Given the description of an element on the screen output the (x, y) to click on. 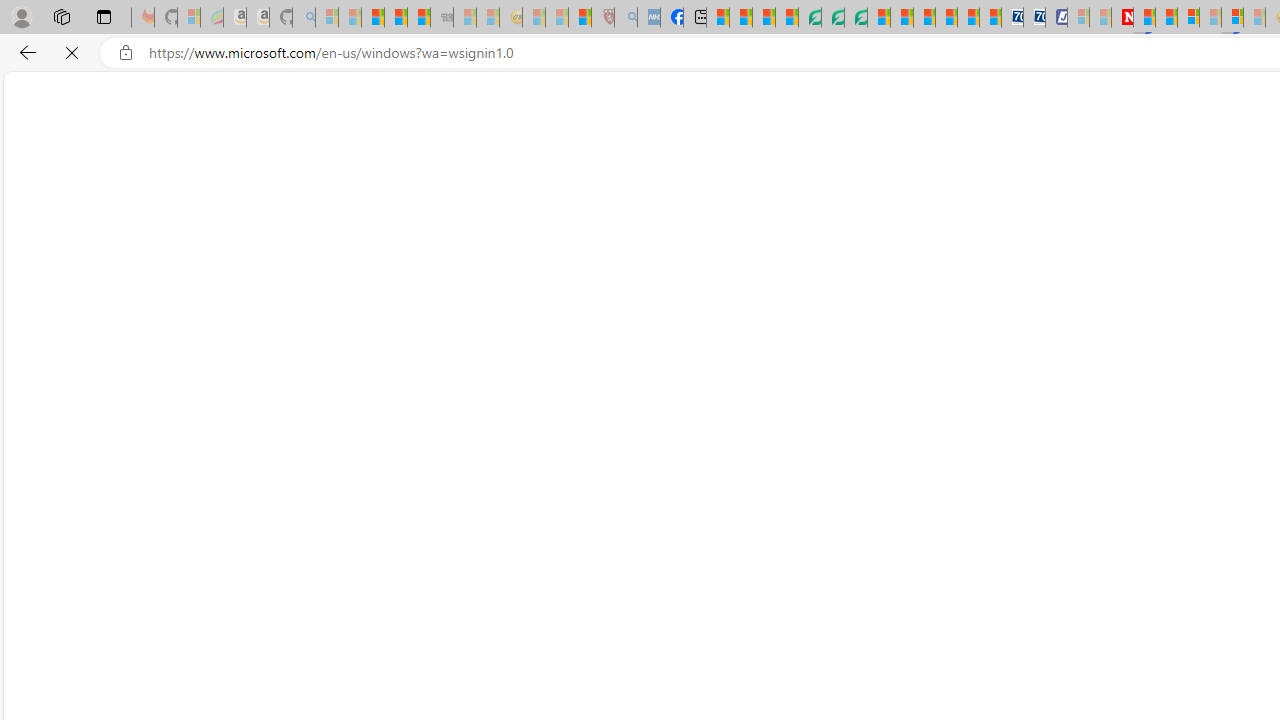
Cheap Hotels - Save70.com (1034, 17)
